Given the description of an element on the screen output the (x, y) to click on. 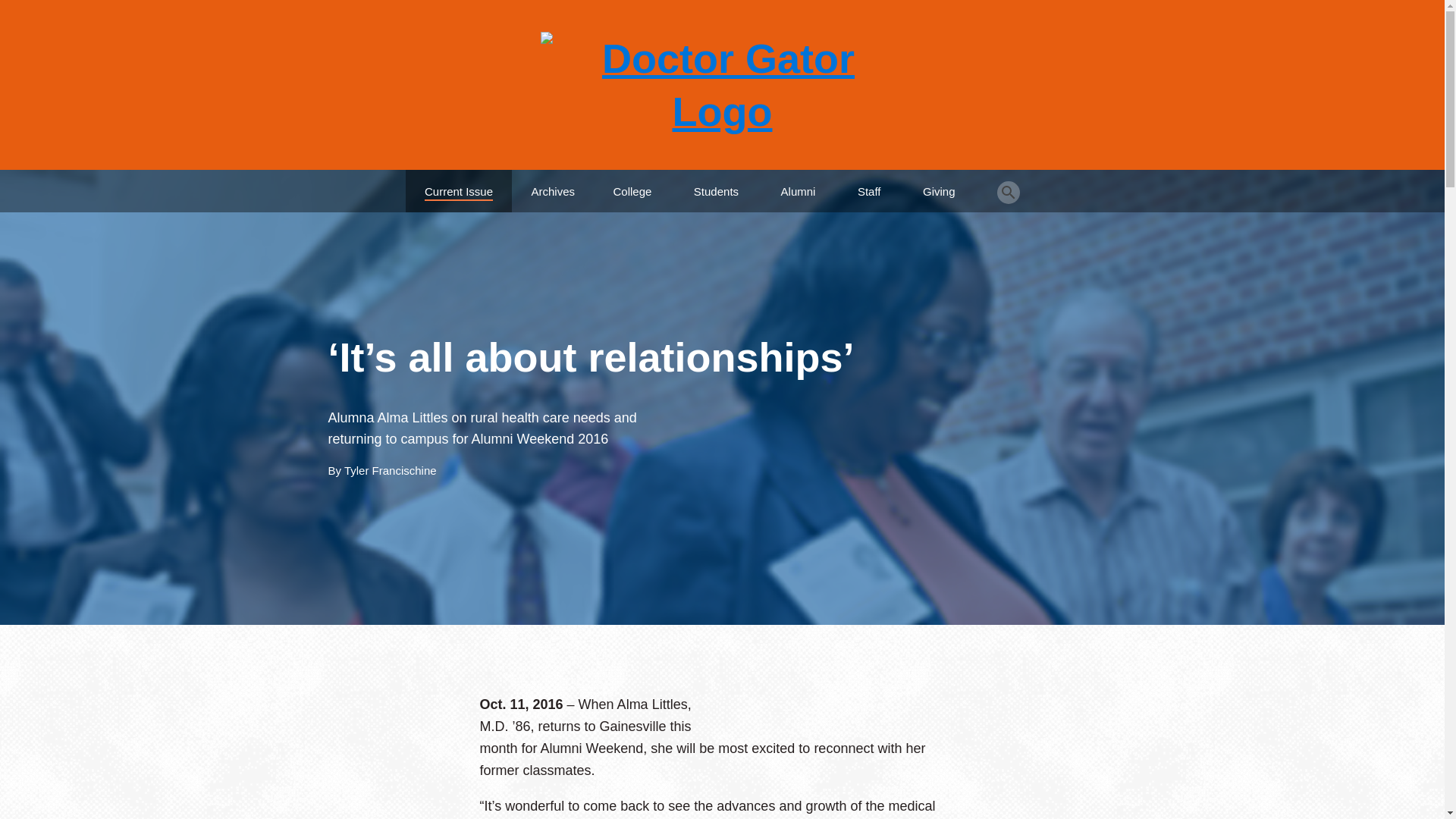
Doctor Gator - Home (722, 84)
Archives (553, 184)
Giving (939, 184)
College (631, 184)
Students (716, 184)
Alumni (797, 184)
Current Issue (459, 184)
